Given the description of an element on the screen output the (x, y) to click on. 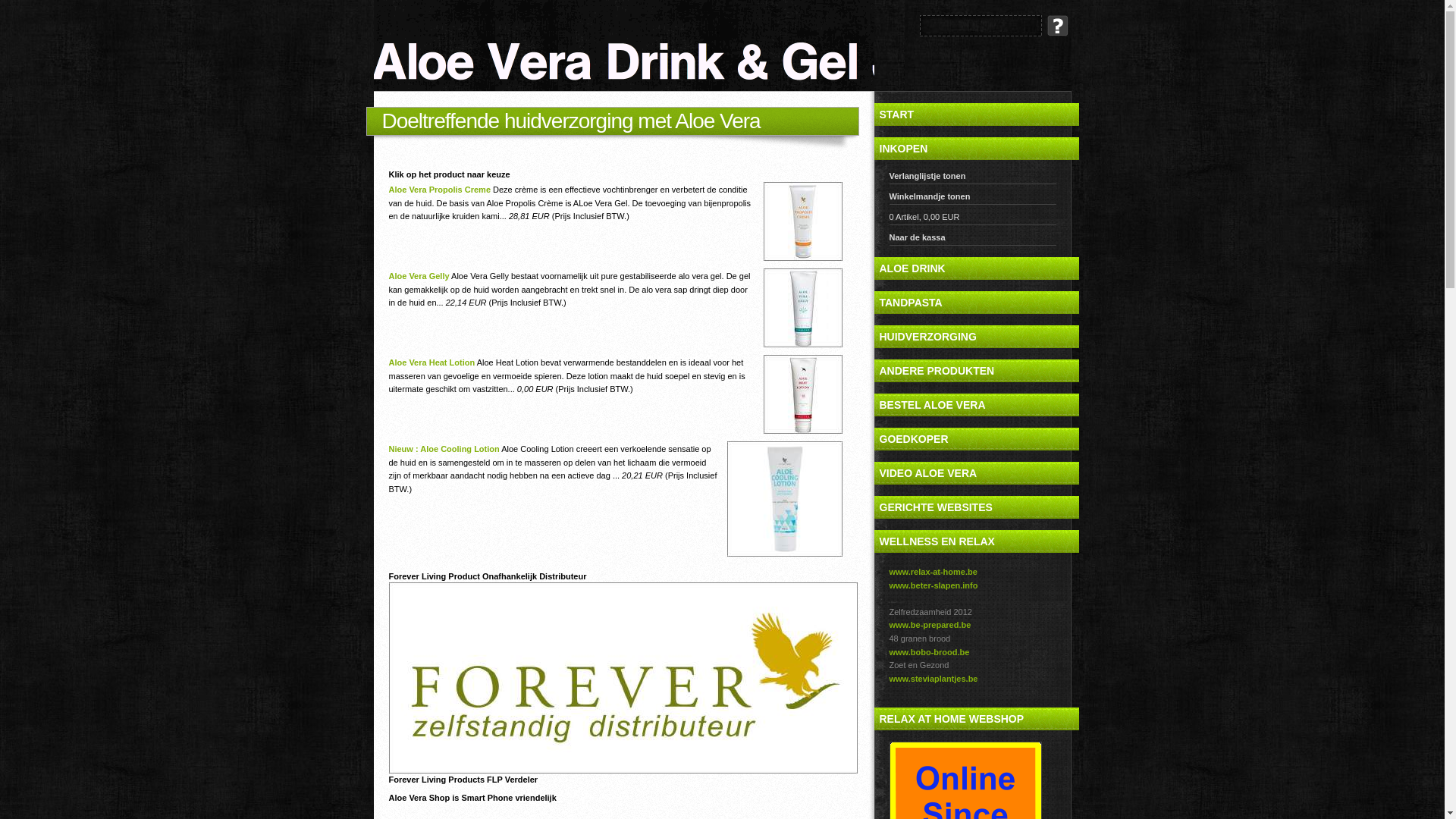
Verlanglijstje tonen Element type: text (971, 177)
www.bobo-brood.be Element type: text (928, 651)
Aloe Vera Gelly Element type: text (418, 275)
Aloe Vera Propolis Creme Element type: text (439, 189)
TANDPASTA Element type: text (975, 302)
Winkelmandje tonen Element type: text (971, 197)
ANDERE PRODUKTEN Element type: text (975, 370)
www.steviaplantjes.be Element type: text (932, 678)
www.be-prepared.be Element type: text (929, 624)
VIDEO ALOE VERA Element type: text (975, 472)
HUIDVERZORGING Element type: text (975, 336)
www.beter-slapen.info Element type: text (932, 584)
Aloe Vera Heat Lotion Element type: text (431, 362)
GERICHTE WEBSITES Element type: text (975, 506)
BESTEL ALOE VERA Element type: text (975, 404)
ALOE DRINK Element type: text (975, 268)
Nieuw : Aloe Cooling Lotion Element type: text (443, 448)
Naar de kassa Element type: text (971, 238)
www.relax-at-home.be Element type: text (932, 571)
START Element type: text (975, 114)
GOEDKOPER Element type: text (975, 438)
